Given the description of an element on the screen output the (x, y) to click on. 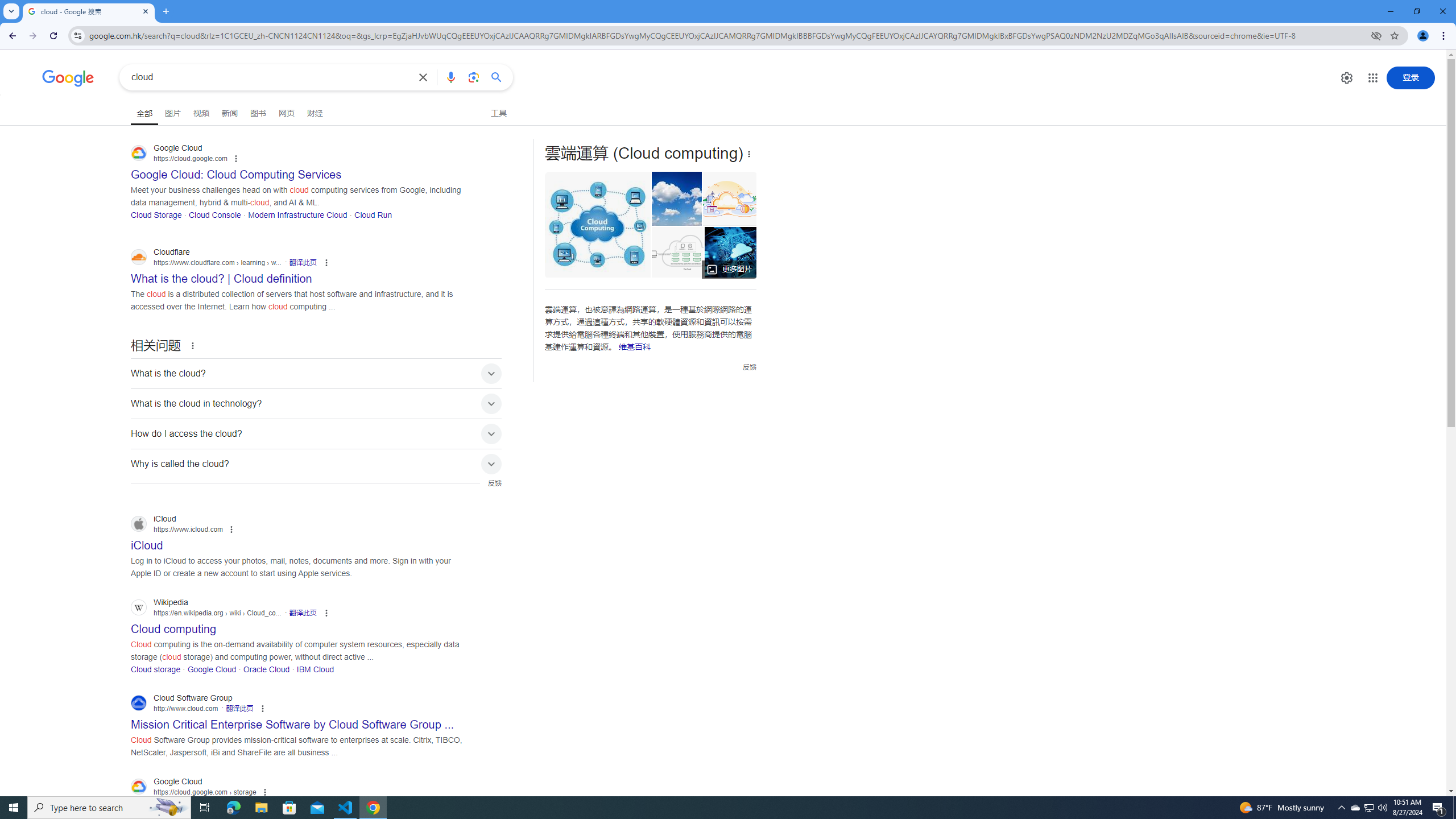
Cloud storage (155, 669)
What is the cloud? | Cloud definition | Cloudflare (677, 251)
Modern Infrastructure Cloud (297, 214)
Google Cloud (211, 669)
